Given the description of an element on the screen output the (x, y) to click on. 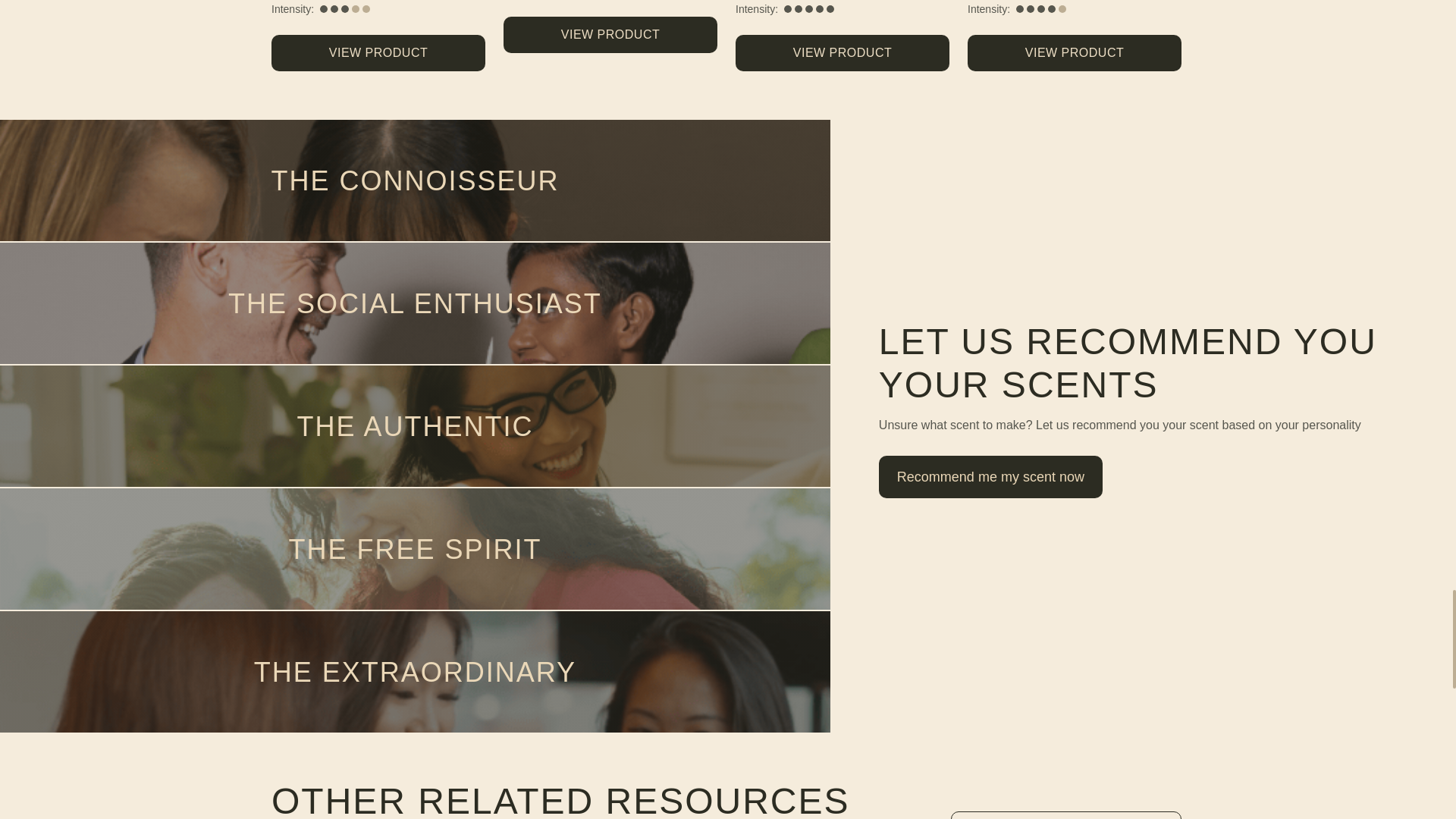
VIEW PRODUCT (842, 53)
VIEW PRODUCT (610, 34)
VIEW PRODUCT (1074, 53)
Recommend me my scent now (990, 471)
VIEW PRODUCT (377, 53)
